Given the description of an element on the screen output the (x, y) to click on. 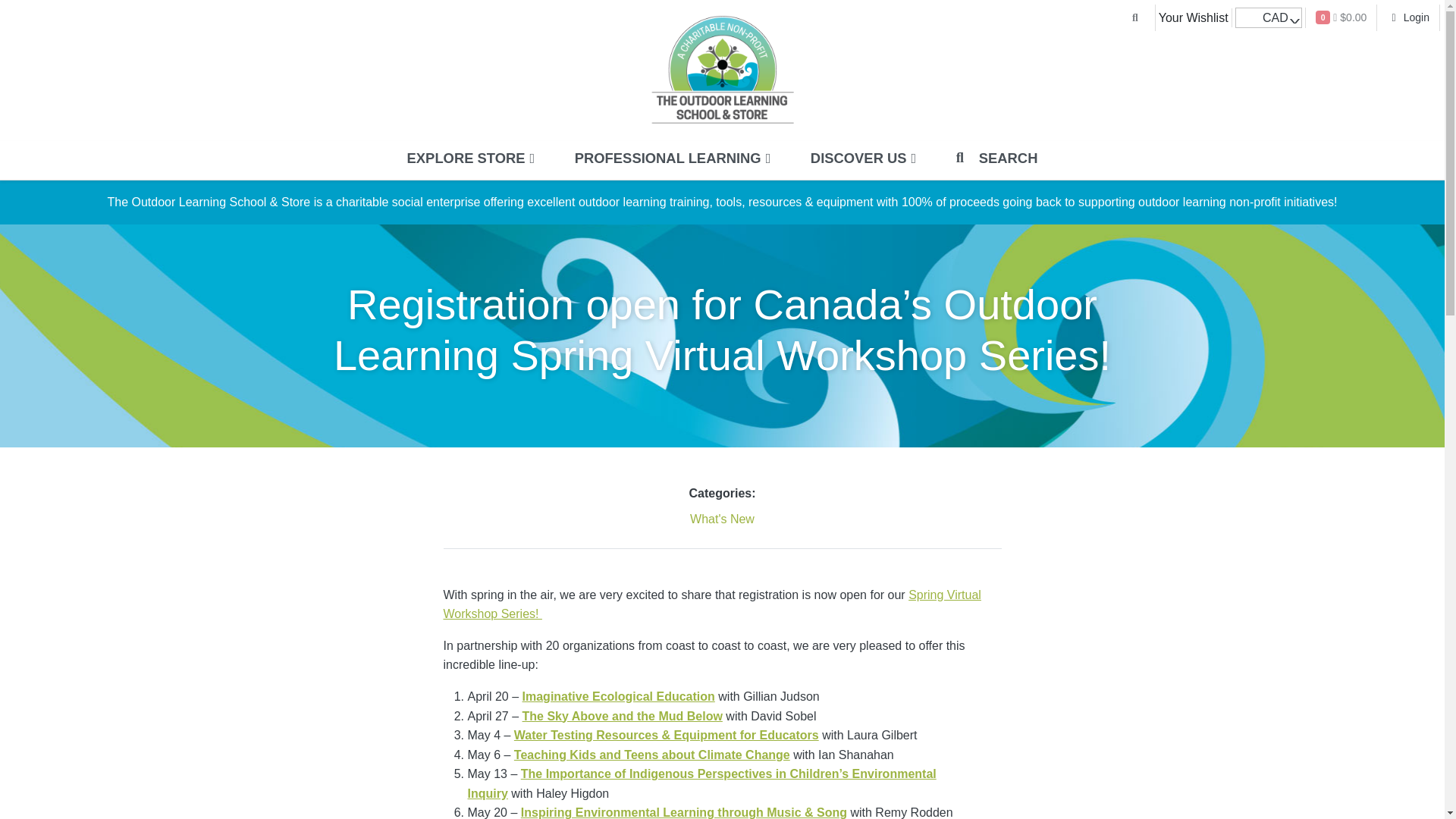
Login (1407, 17)
EXPLORE STORE (470, 160)
Your Wishlist (1193, 17)
